Given the description of an element on the screen output the (x, y) to click on. 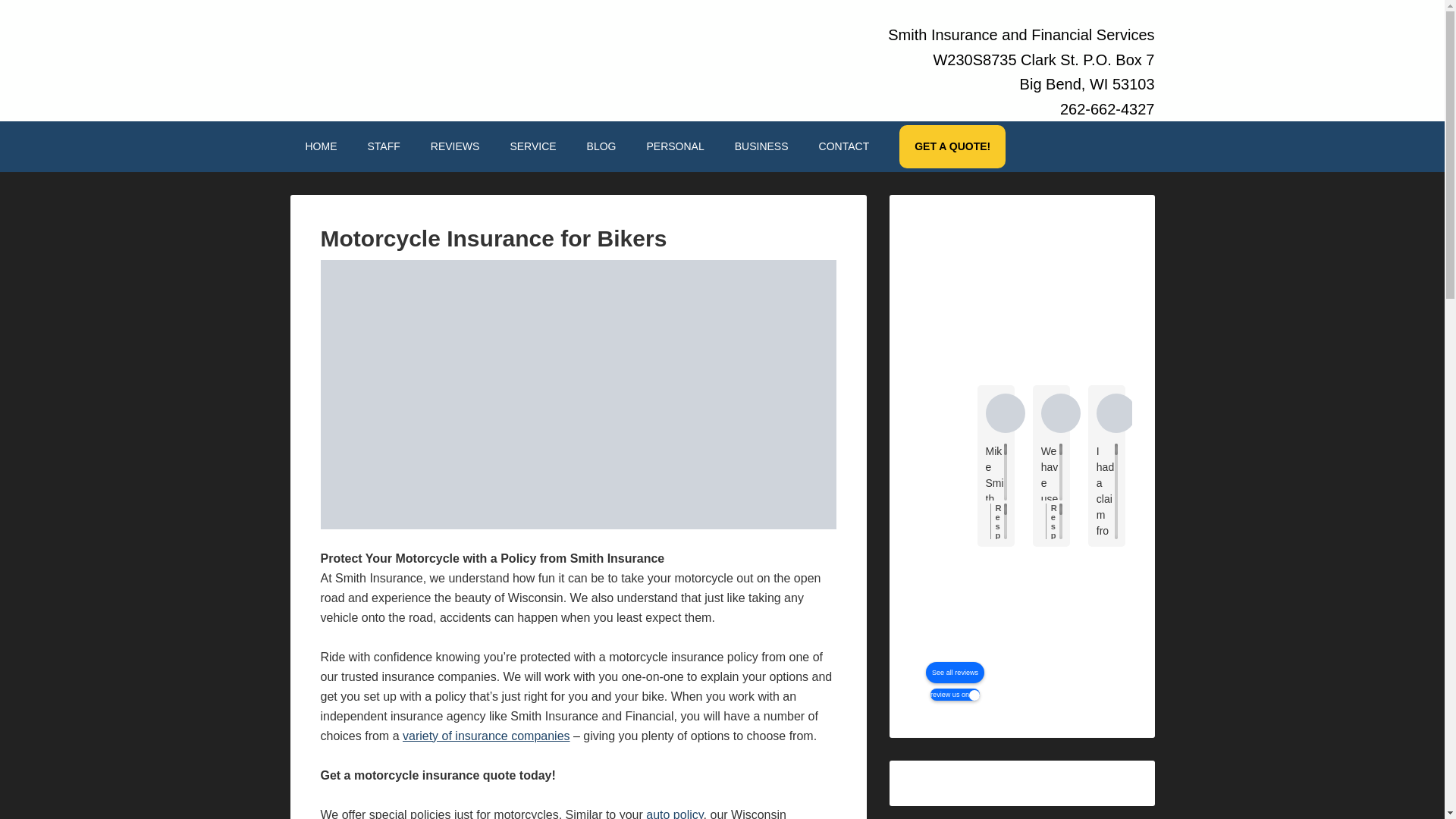
Jackie V. (1060, 413)
BUSINESS (761, 146)
See all reviews (955, 672)
REVIEWS (454, 146)
Joette M. (1281, 413)
SERVICE (532, 146)
STAFF (383, 146)
CONTACT (844, 146)
variety of insurance companies (486, 735)
Alane S. (1005, 413)
